Given the description of an element on the screen output the (x, y) to click on. 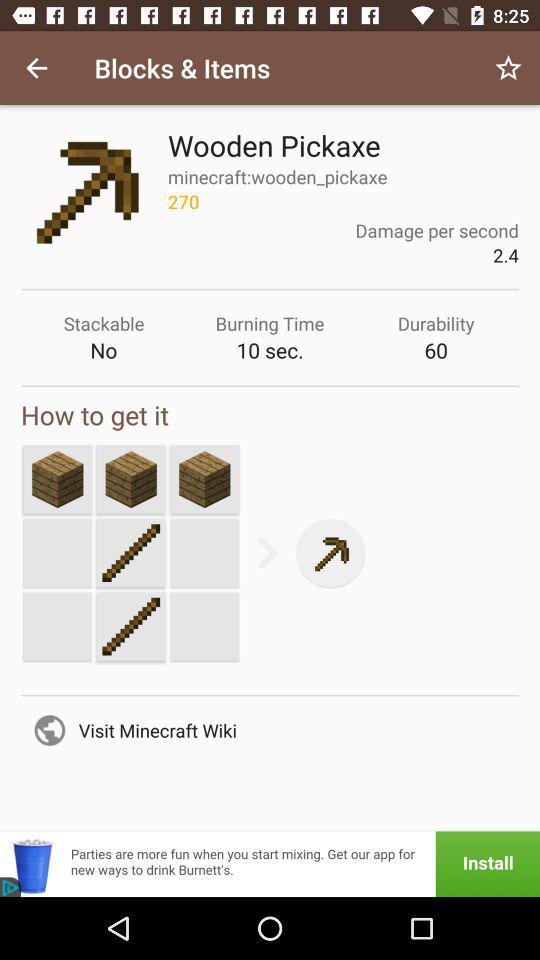
click on box (57, 479)
